Given the description of an element on the screen output the (x, y) to click on. 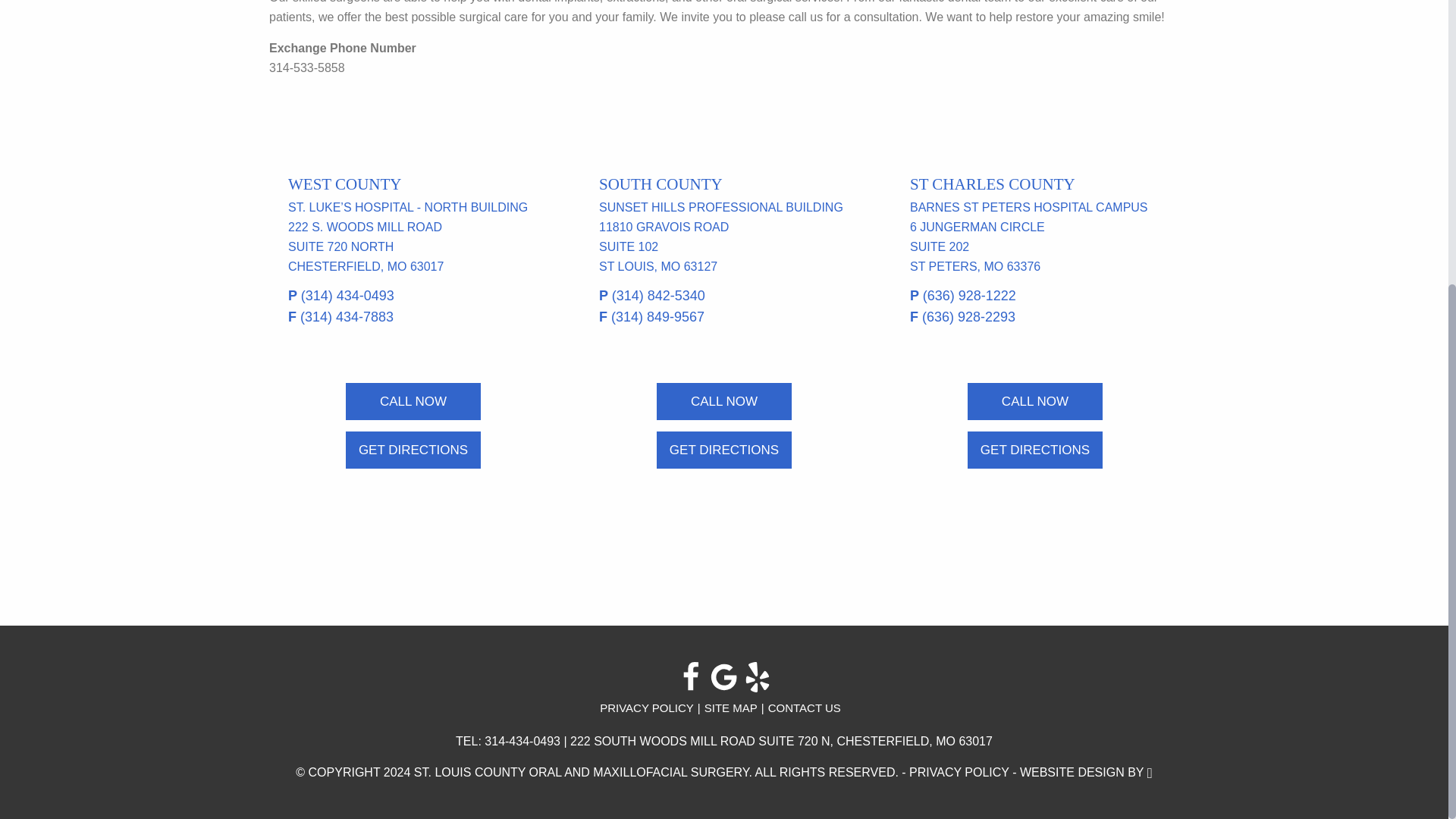
FACEBOOK ICON (690, 676)
GOOGLE ICON (724, 676)
YELP ICON (757, 676)
